Given the description of an element on the screen output the (x, y) to click on. 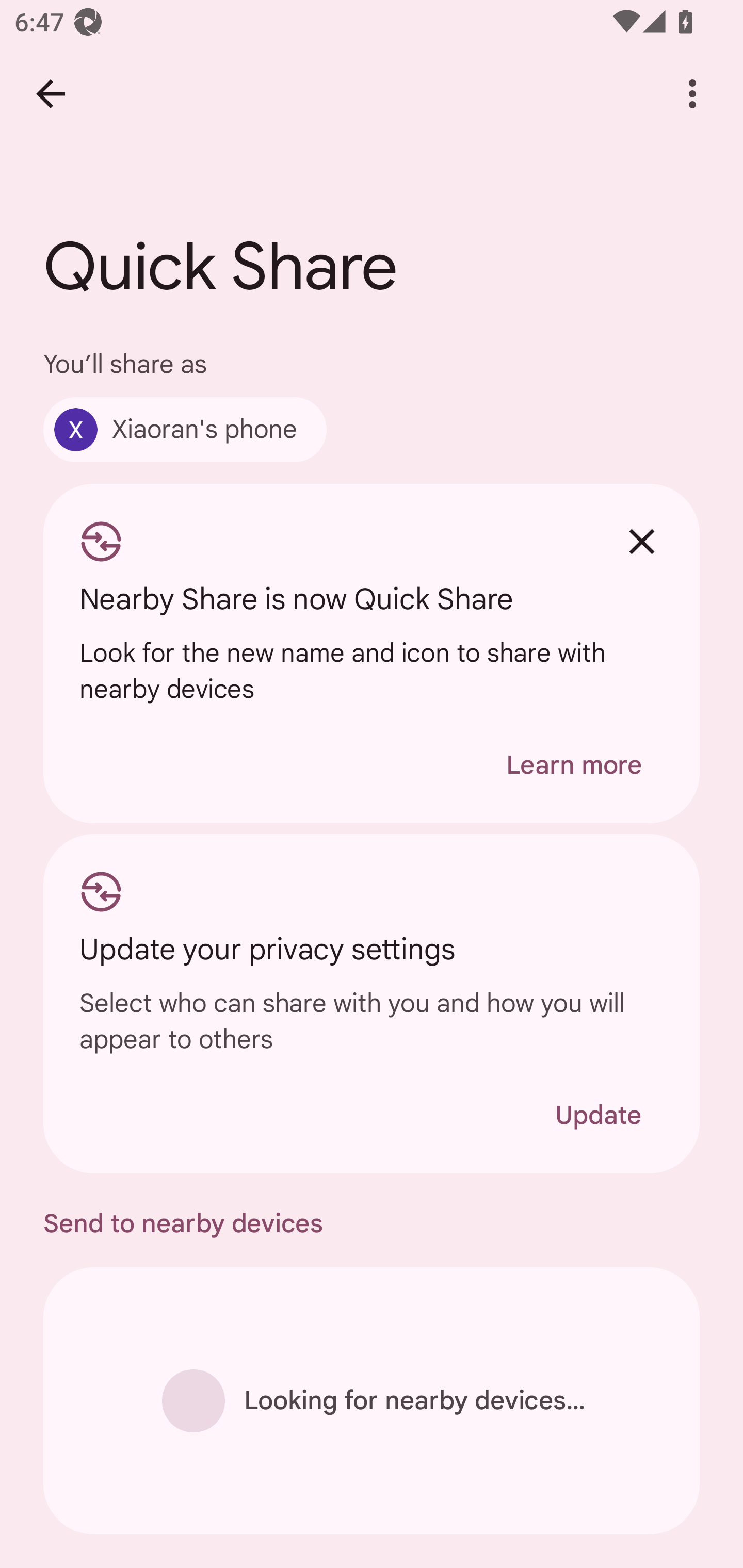
Back (50, 93)
More (692, 93)
Xiaoran's phone (184, 429)
Close (641, 541)
Learn more (573, 765)
Update (598, 1115)
